Given the description of an element on the screen output the (x, y) to click on. 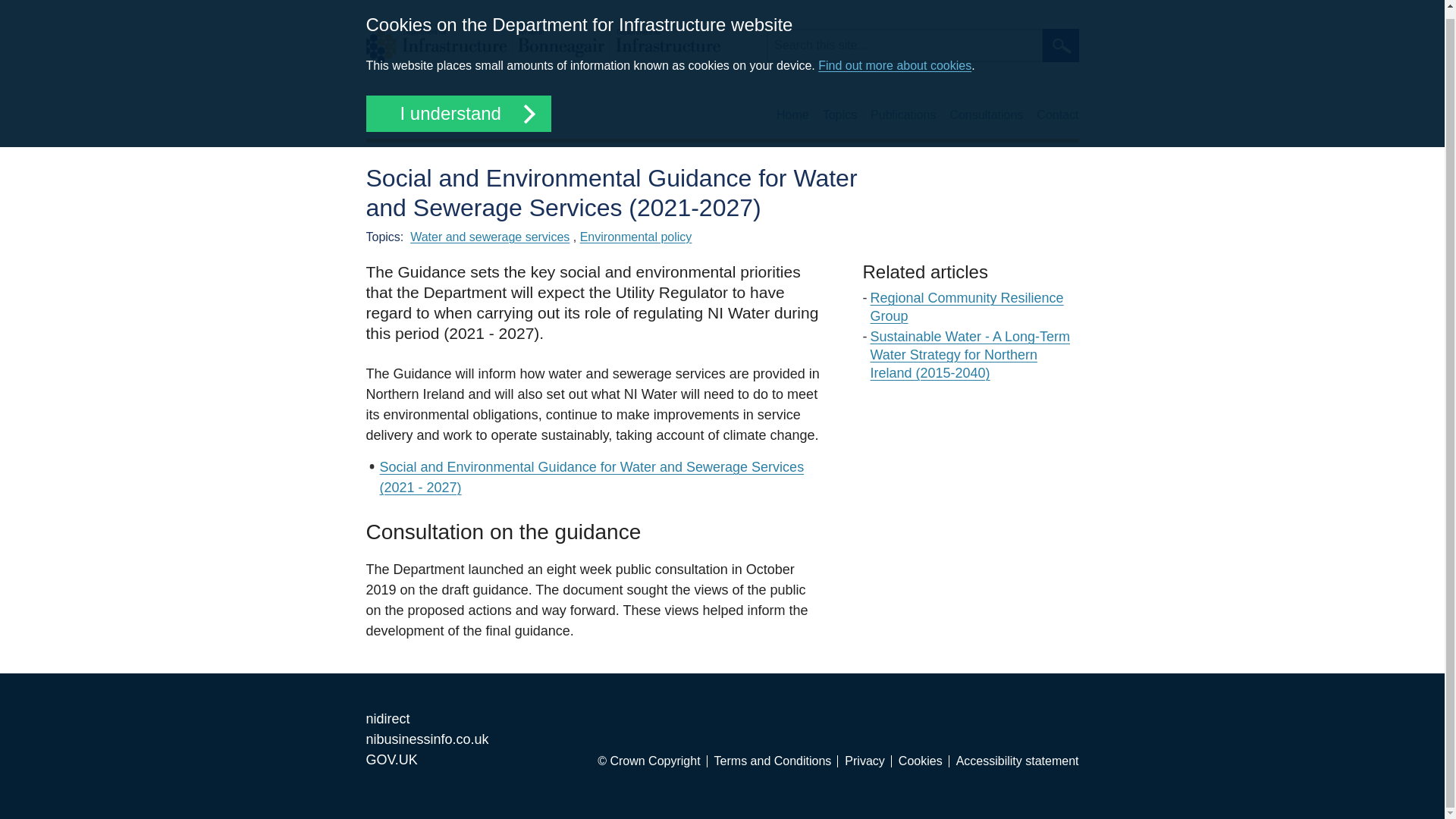
Home (792, 115)
Terms and Conditions (776, 761)
Privacy (867, 761)
Publications (903, 115)
Environmental policy (636, 236)
Cookies (923, 761)
nidirect (387, 718)
nibusinessinfo.co.uk (426, 739)
Regional Community Resilience Group (967, 306)
Home (542, 45)
